Given the description of an element on the screen output the (x, y) to click on. 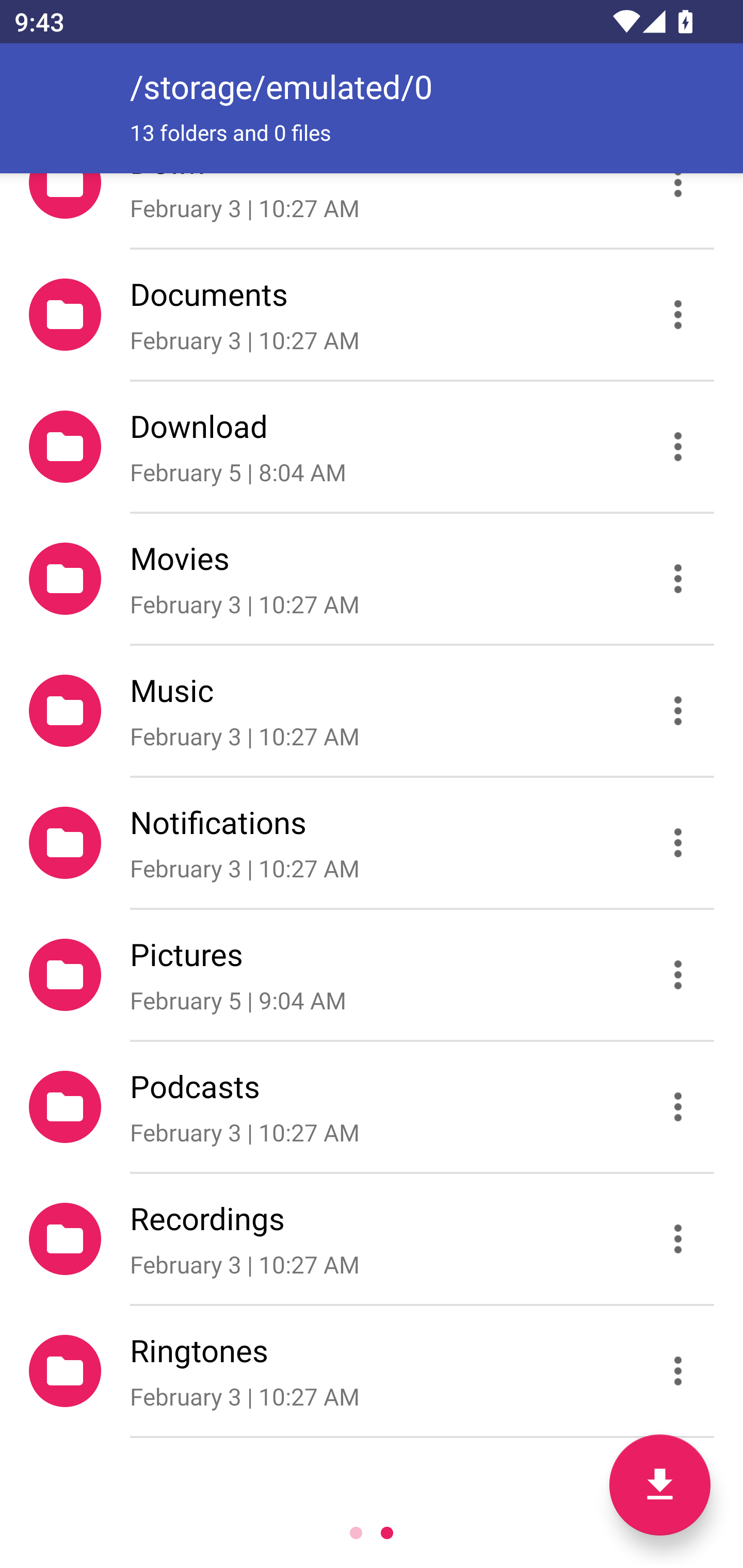
DCIM February 3 | 10:27 AM (371, 210)
Documents February 3 | 10:27 AM (371, 314)
Download February 5 | 8:04 AM (371, 446)
Movies February 3 | 10:27 AM (371, 579)
Music February 3 | 10:27 AM (371, 711)
Notifications February 3 | 10:27 AM (371, 842)
Pictures February 5 | 9:04 AM (371, 974)
Podcasts February 3 | 10:27 AM (371, 1106)
Recordings February 3 | 10:27 AM (371, 1239)
Ringtones February 3 | 10:27 AM (371, 1371)
